Given the description of an element on the screen output the (x, y) to click on. 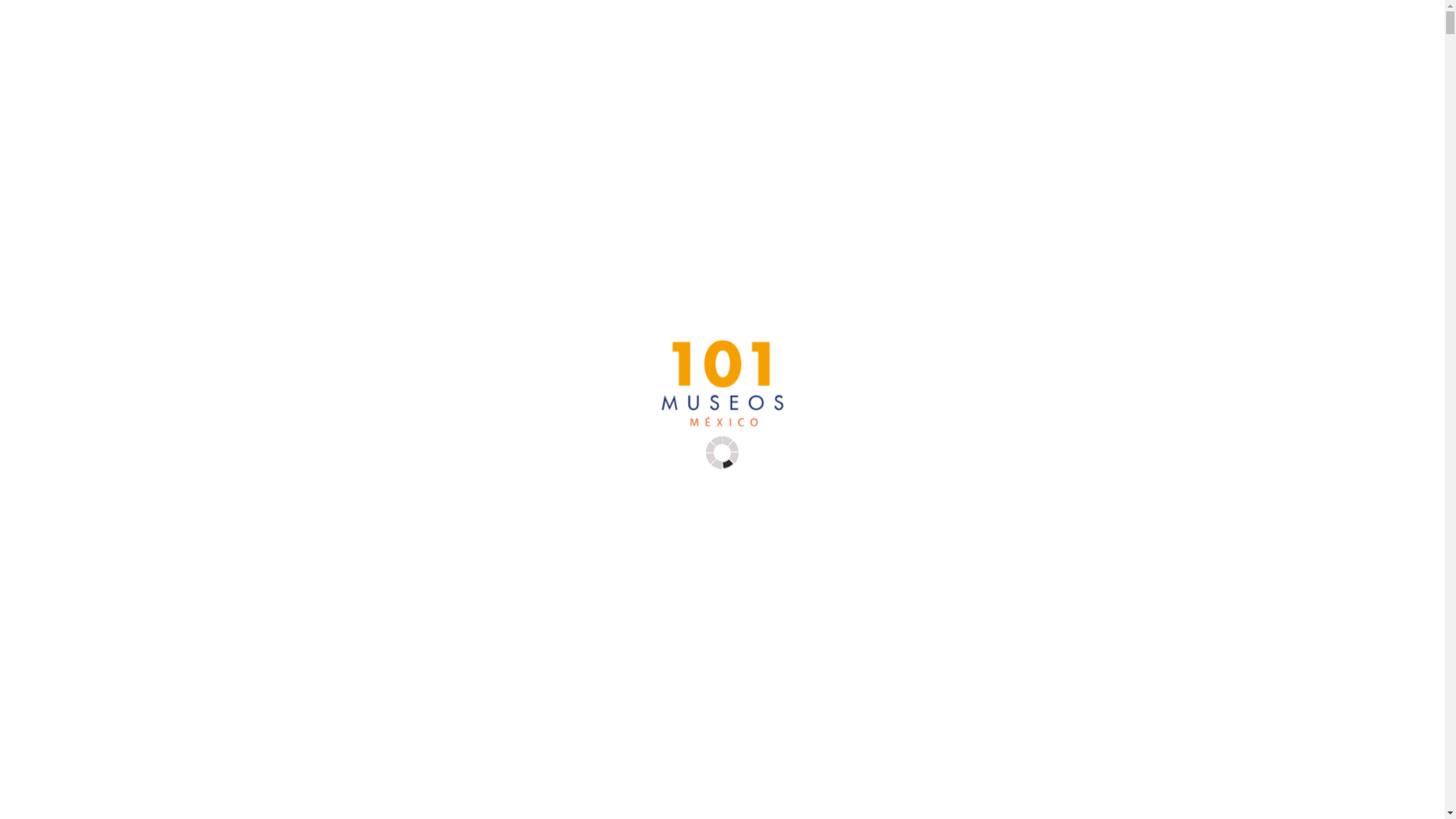
CONTACTO Element type: text (62, 199)
DIRECTORIO Element type: text (62, 184)
MUSEOS Element type: text (51, 139)
ACTIVIDADES
CULTURALES Element type: text (731, 162)
INICIO Element type: text (44, 108)
